Given the description of an element on the screen output the (x, y) to click on. 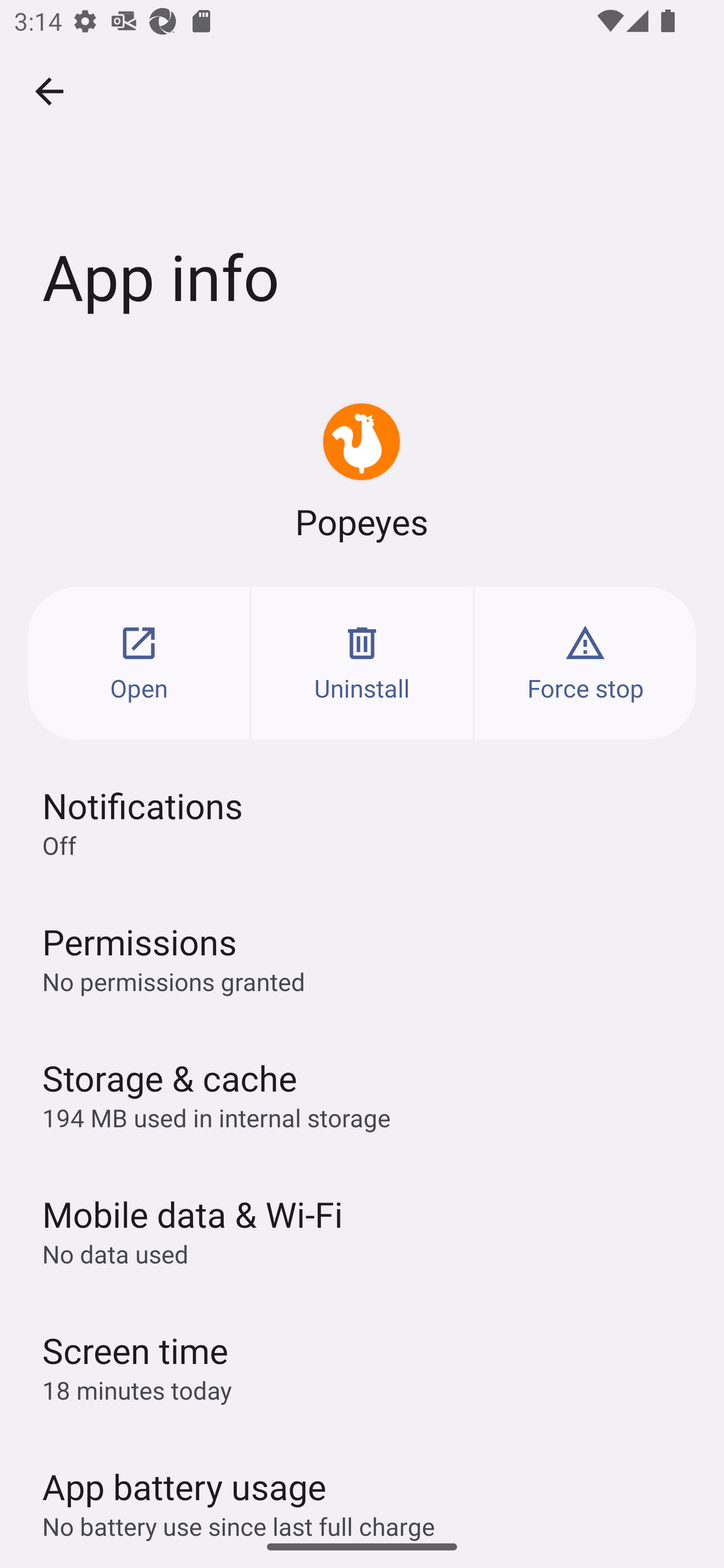
Navigate up (49, 91)
Open (138, 663)
Uninstall (361, 663)
Force stop (584, 663)
Notifications Off (362, 822)
Permissions No permissions granted (362, 957)
Storage & cache 194 MB used in internal storage (362, 1093)
Mobile data & Wi‑Fi No data used (362, 1229)
Screen time 18 minutes today (362, 1366)
